Given the description of an element on the screen output the (x, y) to click on. 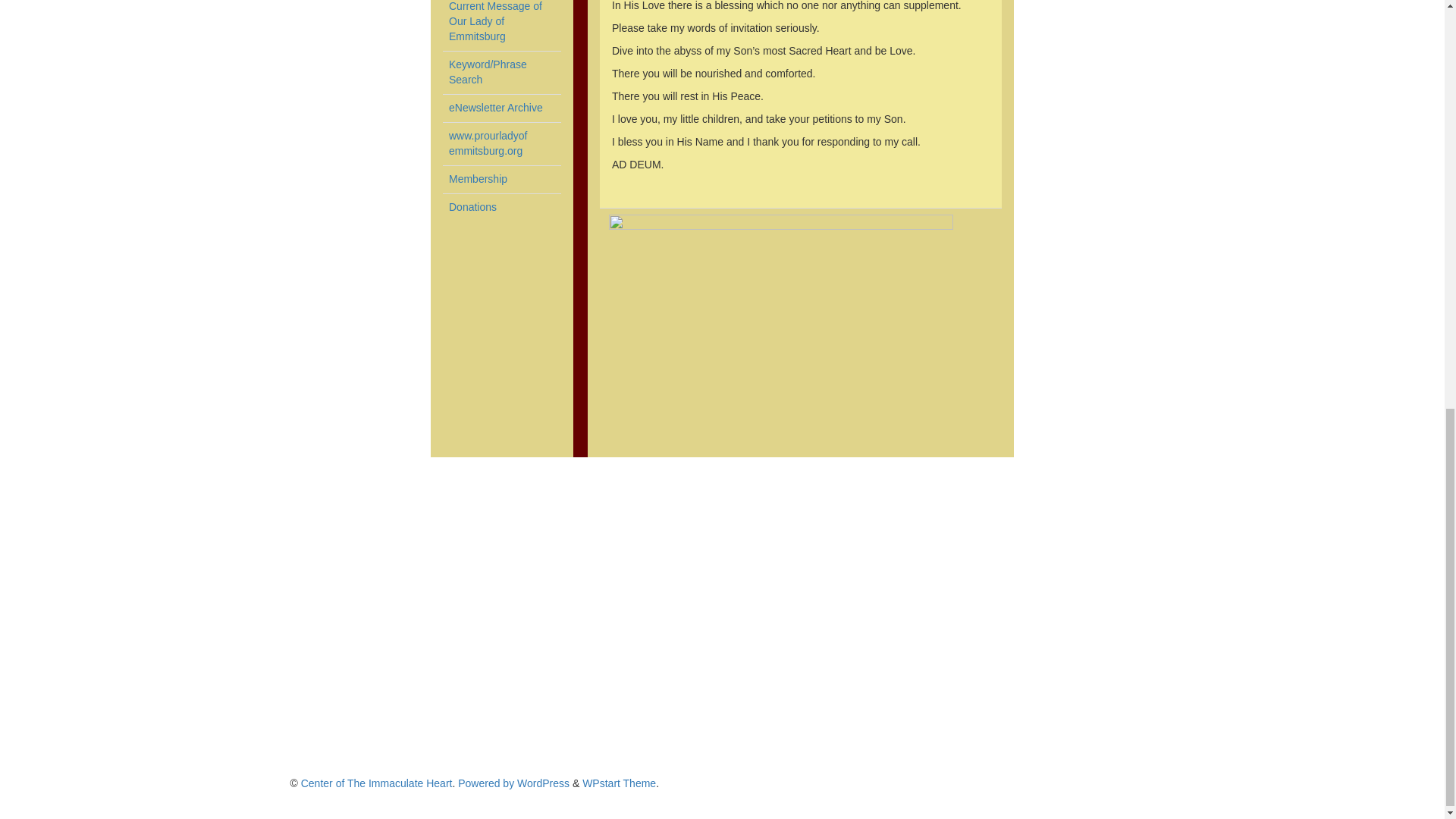
Membership (477, 178)
Center of The Immaculate Heart (376, 783)
WPstart Theme (619, 783)
Powered by WordPress (513, 783)
Powered by WordPress (513, 783)
Current Message of Our Lady of Emmitsburg (494, 21)
Donations (472, 206)
Center of The Immaculate Heart (376, 783)
eNewsletter Archive (487, 143)
WPstart Theme (495, 107)
